Given the description of an element on the screen output the (x, y) to click on. 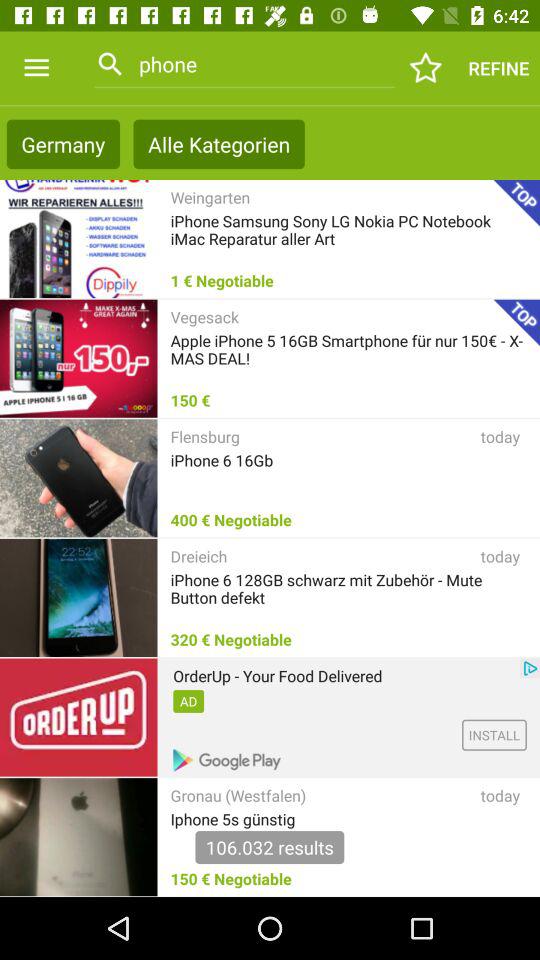
launch icon to the left of phone icon (36, 68)
